Given the description of an element on the screen output the (x, y) to click on. 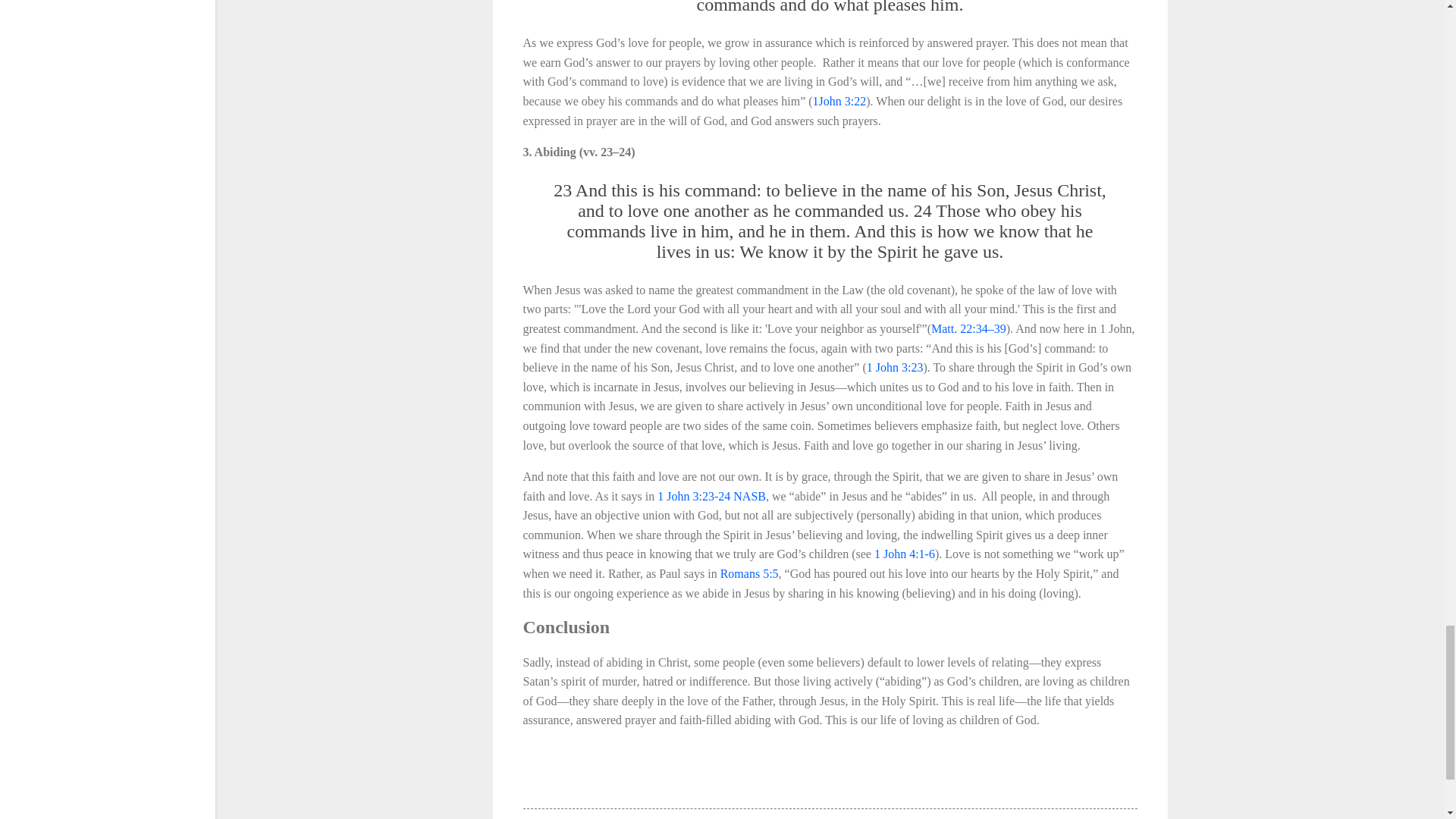
1 John 3:23 (894, 367)
1 John 3:23-24 NASB (711, 495)
1John 3:22 (839, 101)
1 John 4:1-6 (904, 553)
Romans 5:5 (749, 573)
